Given the description of an element on the screen output the (x, y) to click on. 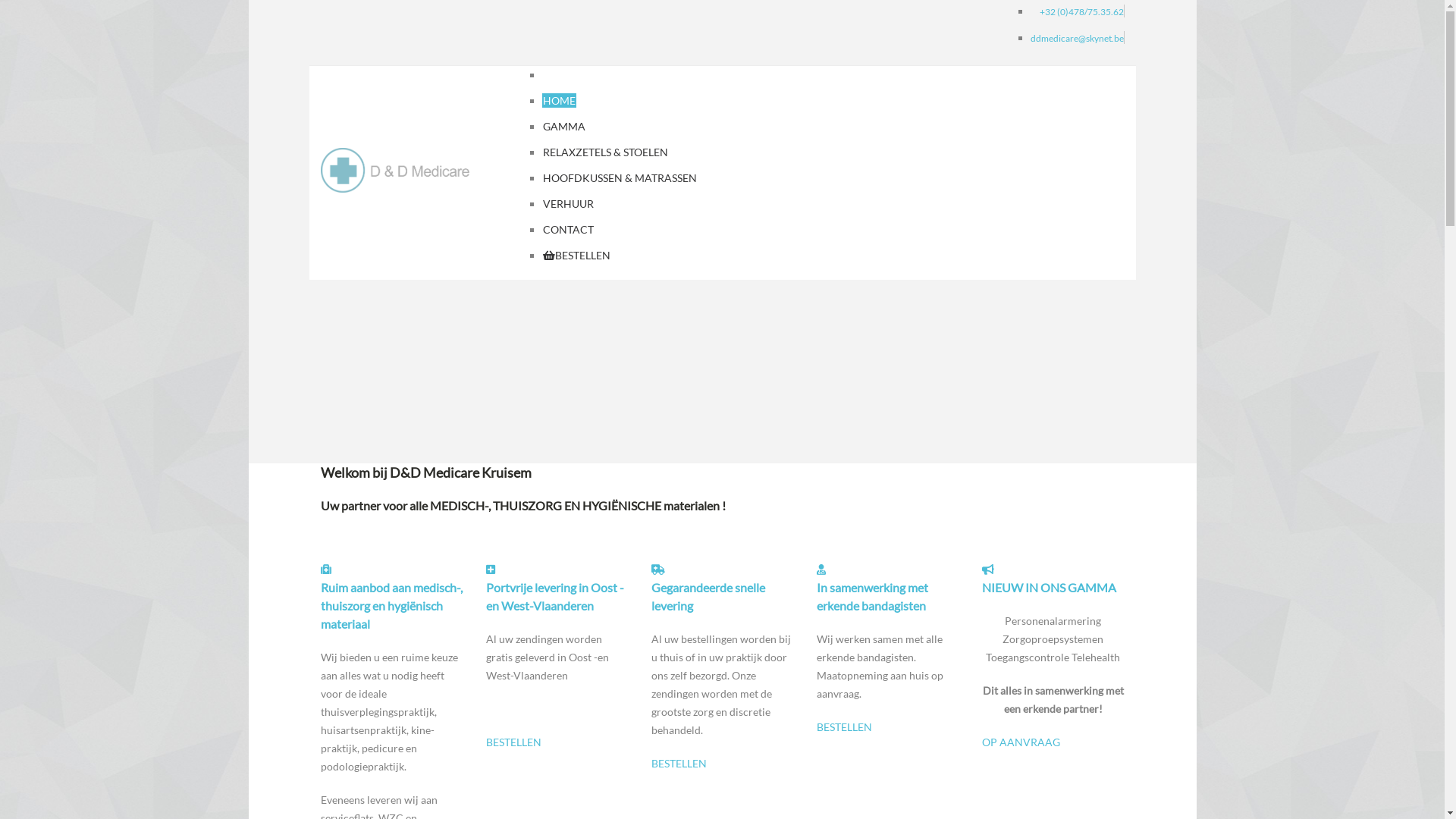
+32 (0)478/75.35.62 Element type: text (1080, 11)
Portvrije levering in Oost -en West-Vlaanderen Element type: text (554, 596)
HOOFDKUSSEN & MATRASSEN Element type: text (619, 177)
CONTACT Element type: text (568, 229)
BESTELLEN Element type: text (512, 741)
VERHUUR Element type: text (568, 203)
NIEUW IN ONS GAMMA Element type: text (1048, 587)
BESTELLEN Element type: text (678, 762)
Gegarandeerde snelle levering Element type: text (707, 596)
HOME Element type: text (559, 100)
BESTELLEN Element type: text (576, 254)
ddmedicare@skynet.be Element type: text (1076, 37)
OP AANVRAAG Element type: text (1020, 741)
BESTELLEN Element type: text (843, 726)
In samenwerking met erkende bandagisten Element type: text (871, 596)
RELAXZETELS & STOELEN Element type: text (605, 151)
GAMMA Element type: text (564, 126)
